Given the description of an element on the screen output the (x, y) to click on. 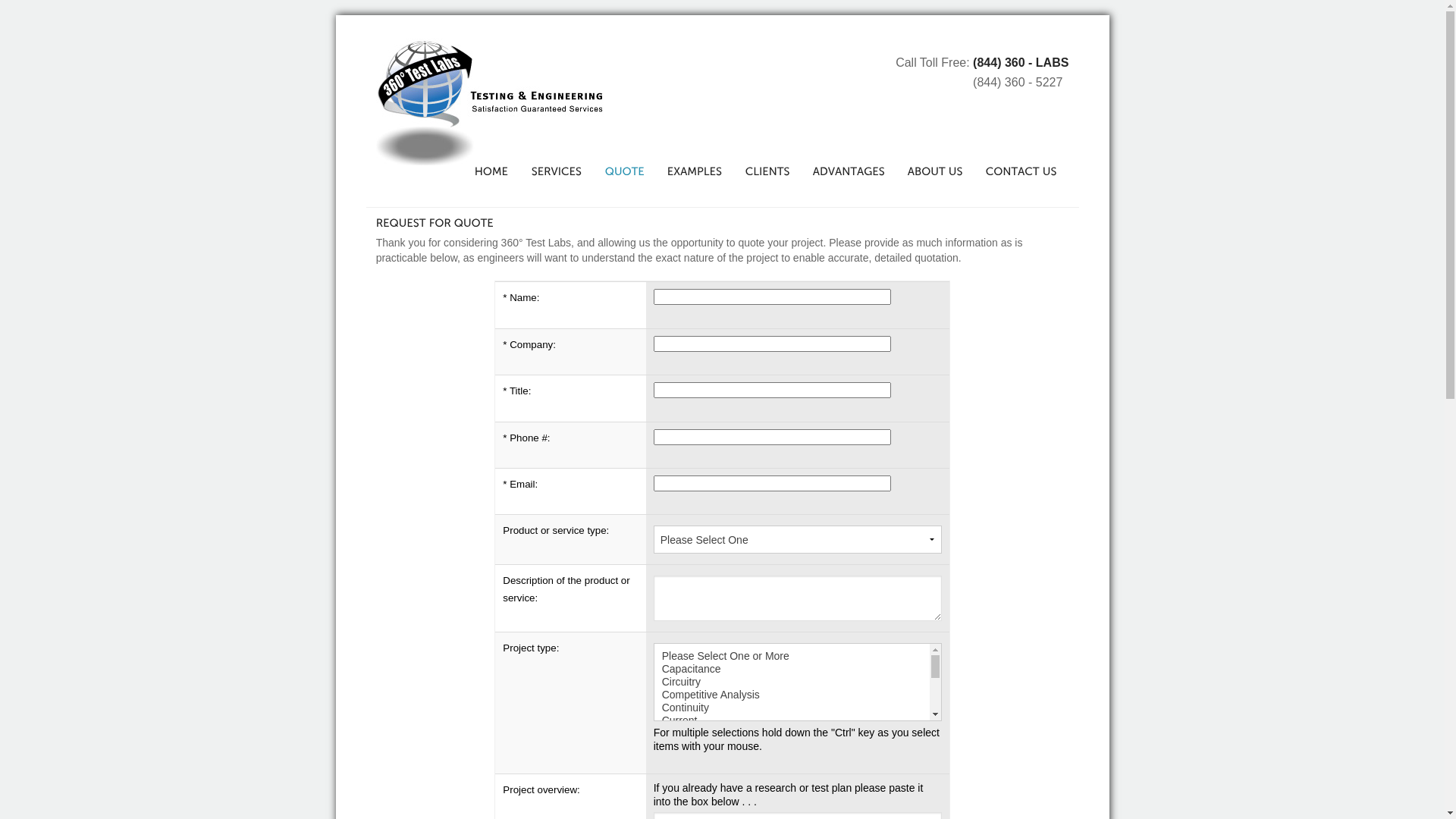
Back Home Element type: hover (489, 101)
